Given the description of an element on the screen output the (x, y) to click on. 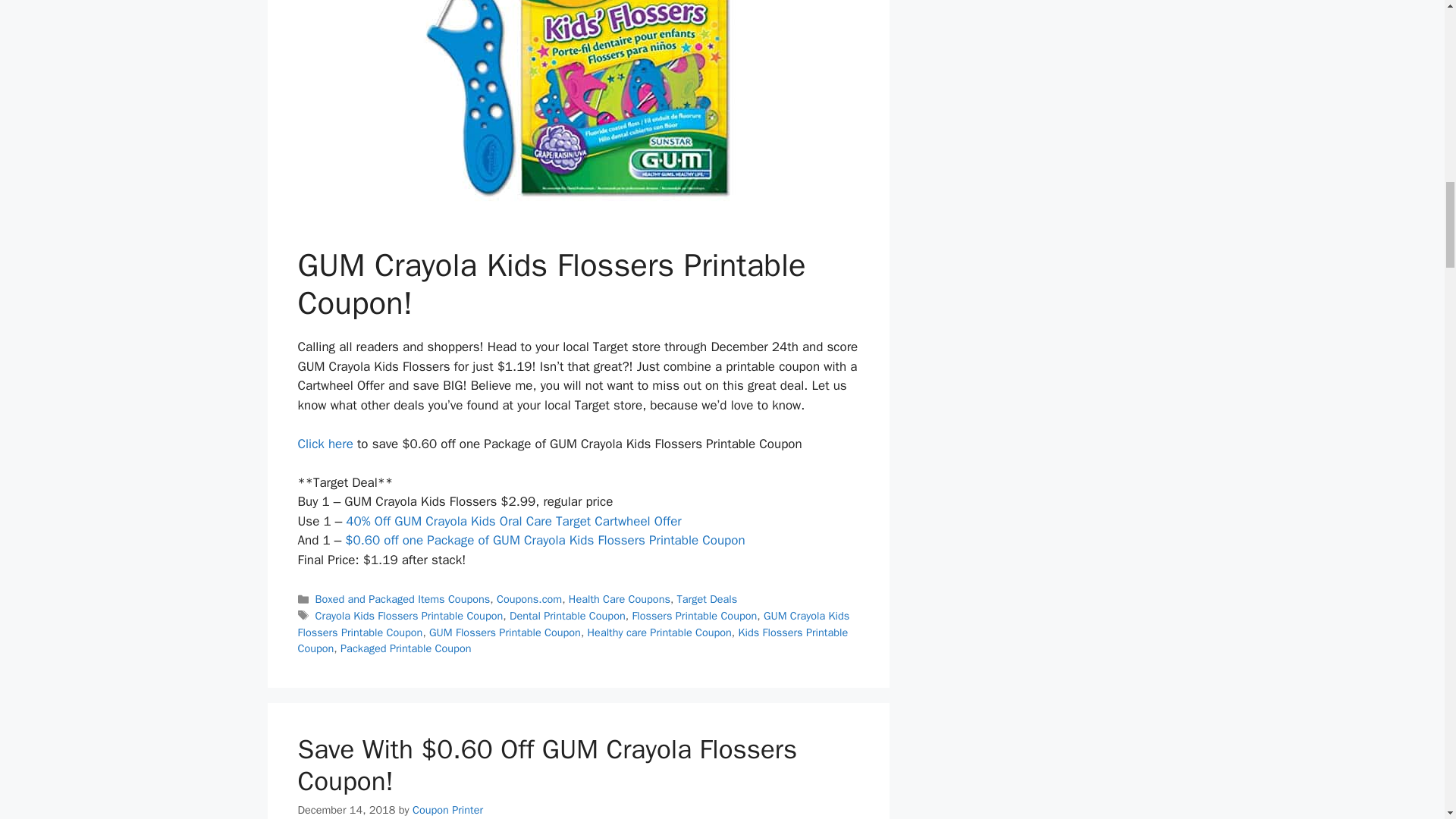
View all posts by Coupon Printer (447, 809)
